Given the description of an element on the screen output the (x, y) to click on. 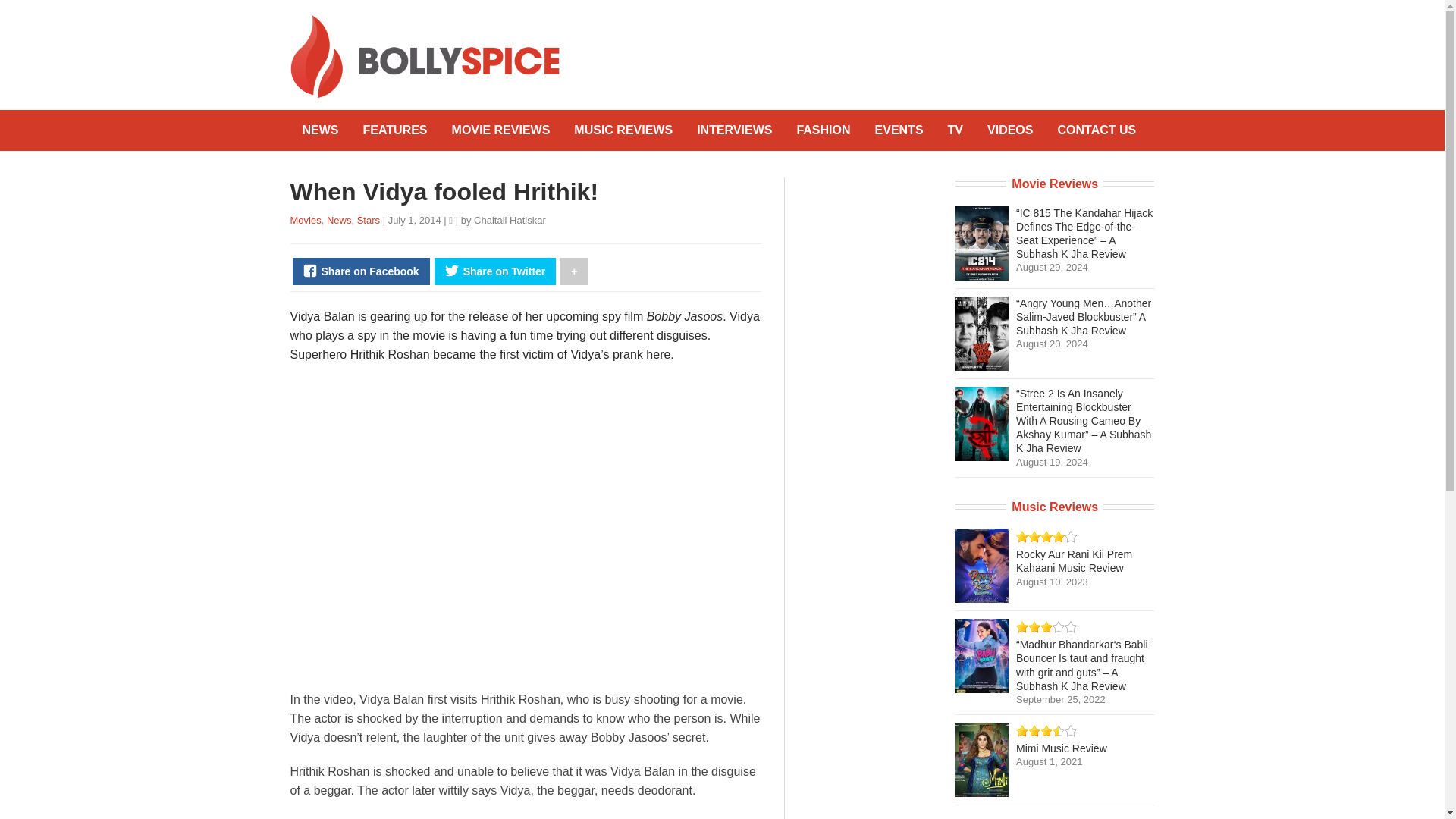
VIDEOS (1010, 130)
NEWS (319, 130)
August 29, 2024 (1051, 266)
Stars (368, 220)
FEATURES (394, 130)
August 20, 2024 (1051, 343)
MUSIC REVIEWS (623, 130)
July 1, 2014 (416, 220)
September 25, 2022 (1060, 699)
MOVIE REVIEWS (500, 130)
